Given the description of an element on the screen output the (x, y) to click on. 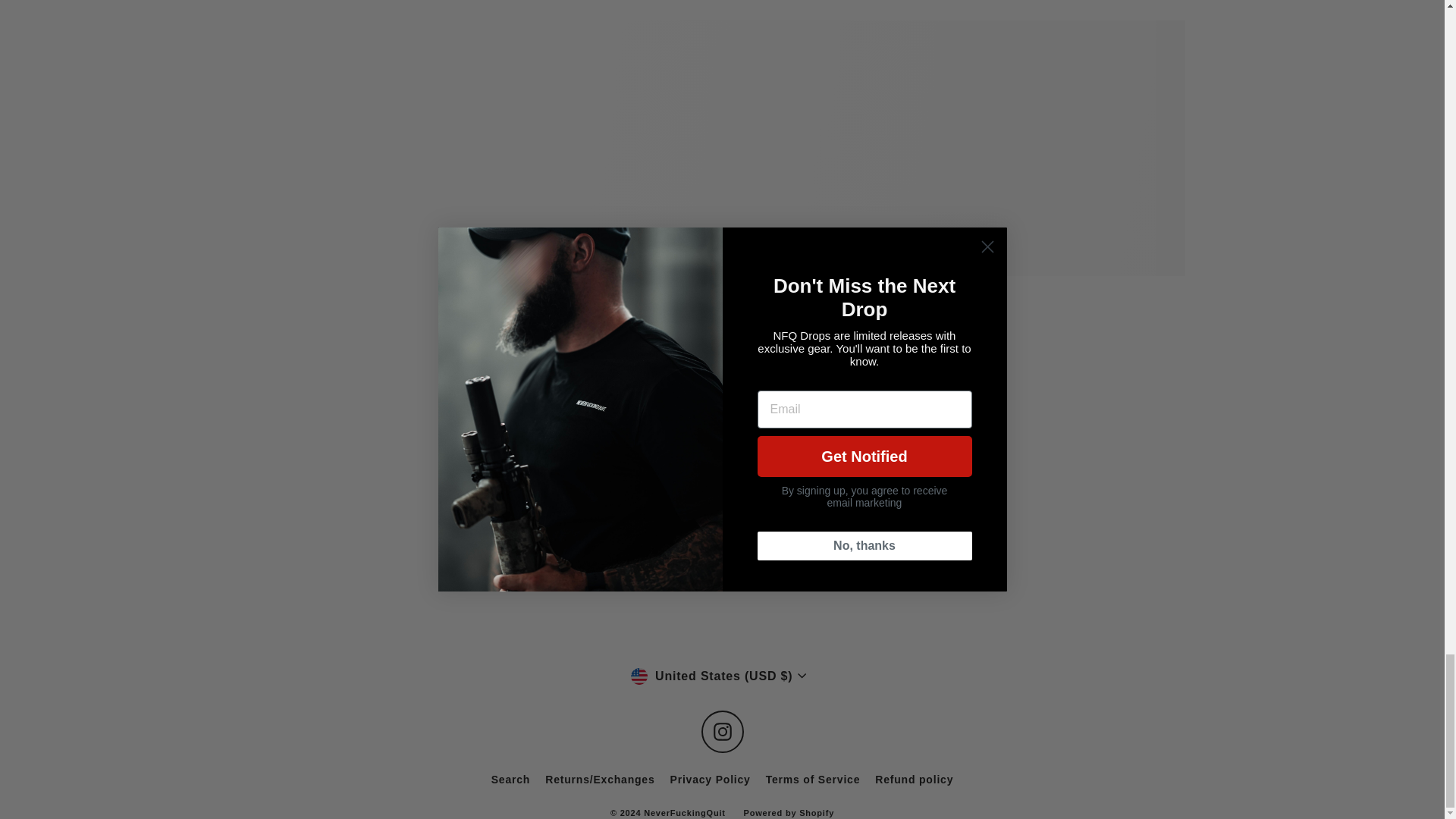
NeverFuckingQuit on Instagram (721, 731)
